Given the description of an element on the screen output the (x, y) to click on. 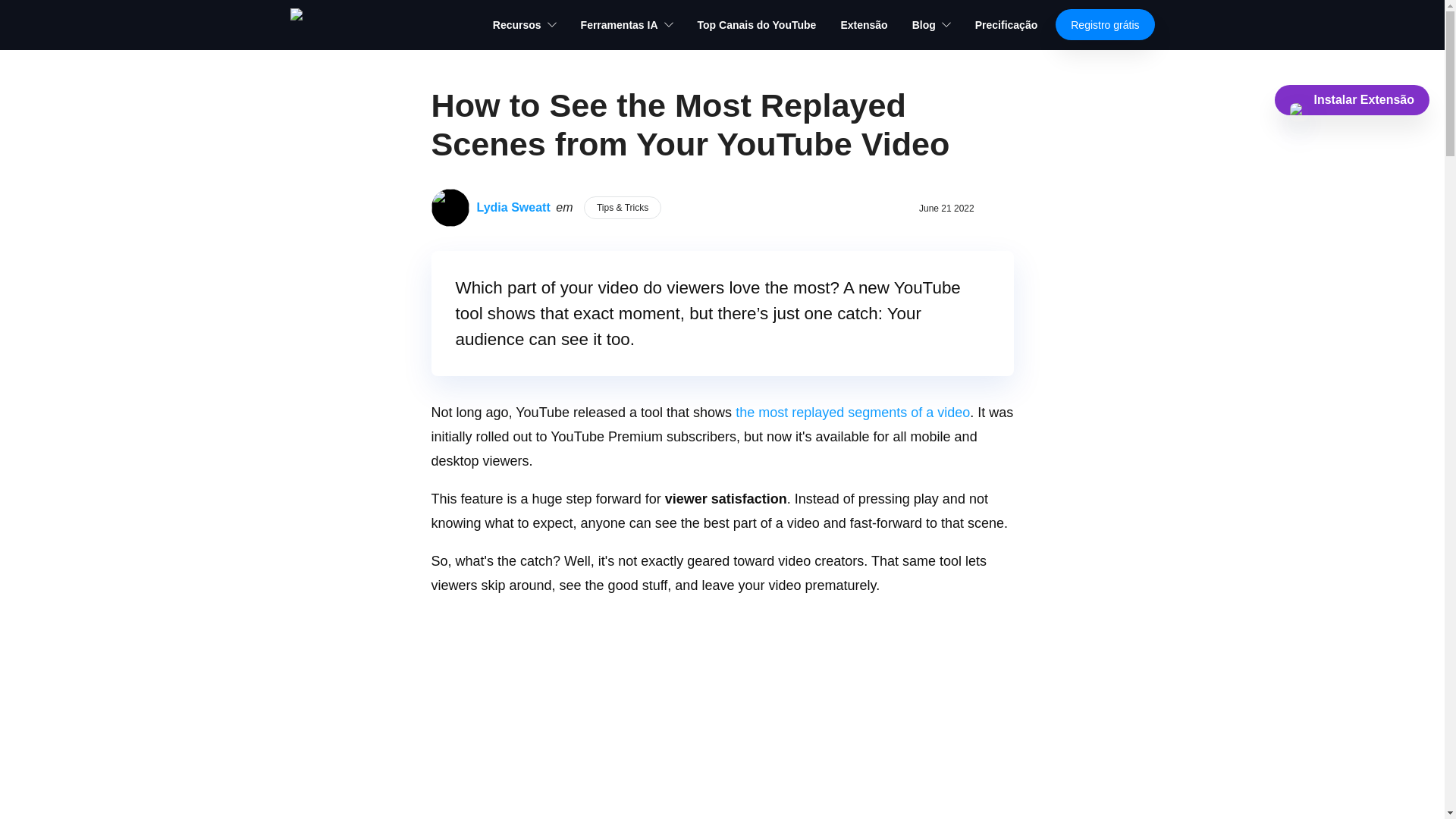
Ferramentas IA (626, 24)
Top Canais do YouTube (756, 24)
Blog (931, 24)
Recursos (524, 24)
